Given the description of an element on the screen output the (x, y) to click on. 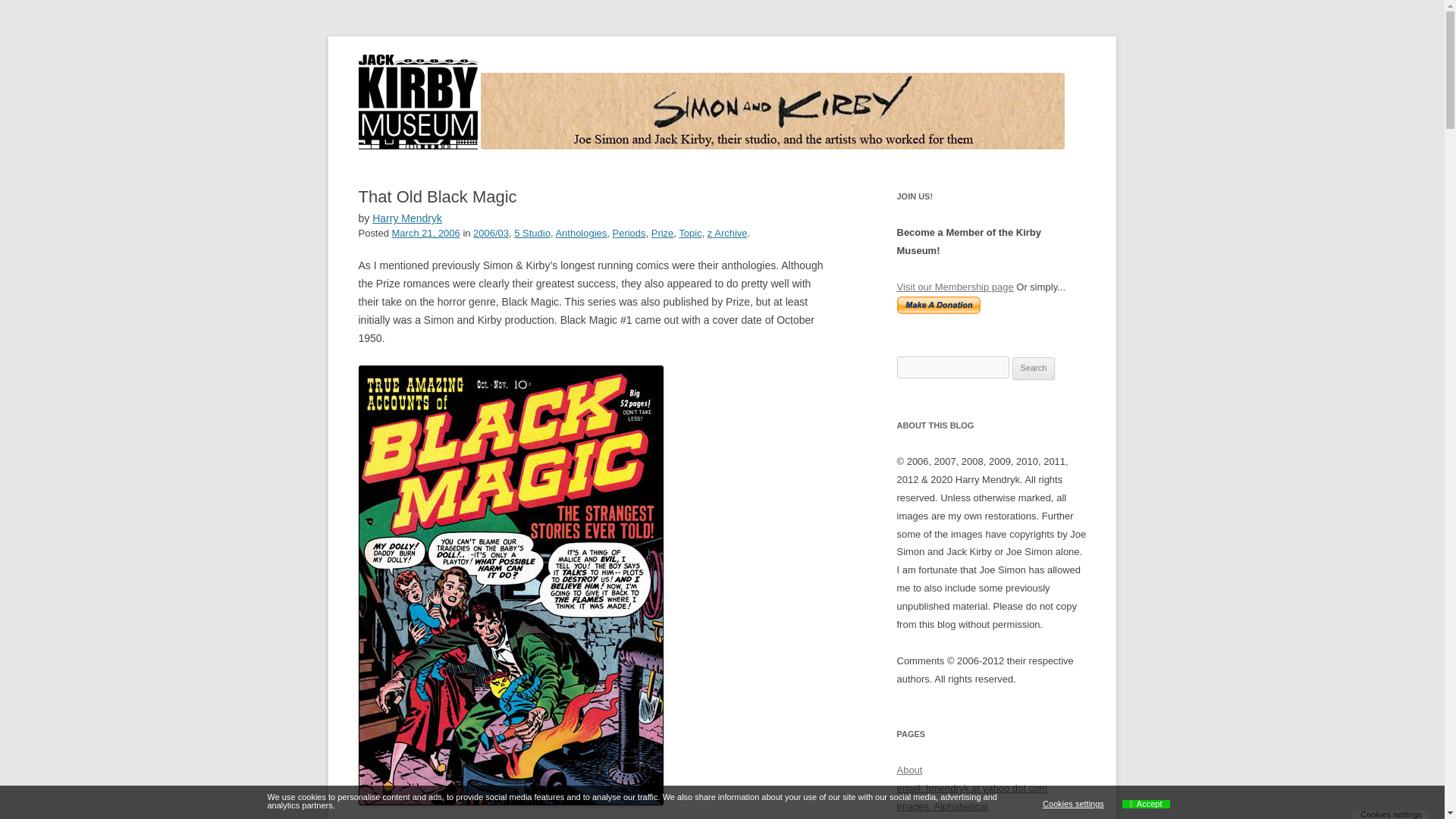
Visit our Membership page (954, 286)
6:45 pm (425, 233)
Prize (662, 233)
Simon and Kirby (435, 72)
Images, Alphabetical (941, 806)
Topic (689, 233)
About (908, 769)
Harry Mendryk (407, 218)
z Archive (727, 233)
5 Studio (531, 233)
March 21, 2006 (425, 233)
Anthologies (580, 233)
View all posts by Harry Mendryk (407, 218)
Simon and Kirby (435, 72)
email: hmendryk at yahoo dot com (971, 787)
